Given the description of an element on the screen output the (x, y) to click on. 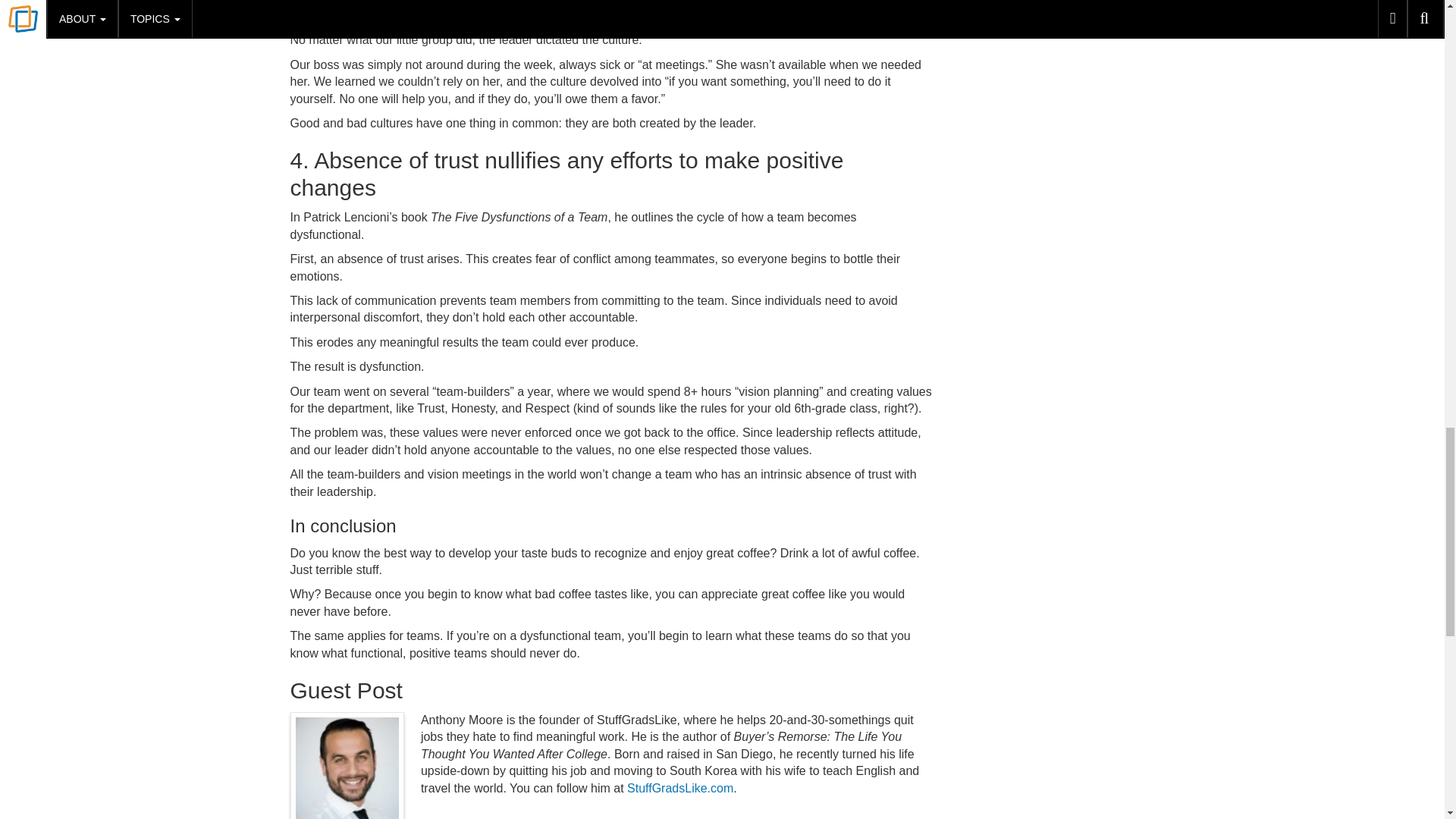
StuffGradsLike.com (680, 788)
